Given the description of an element on the screen output the (x, y) to click on. 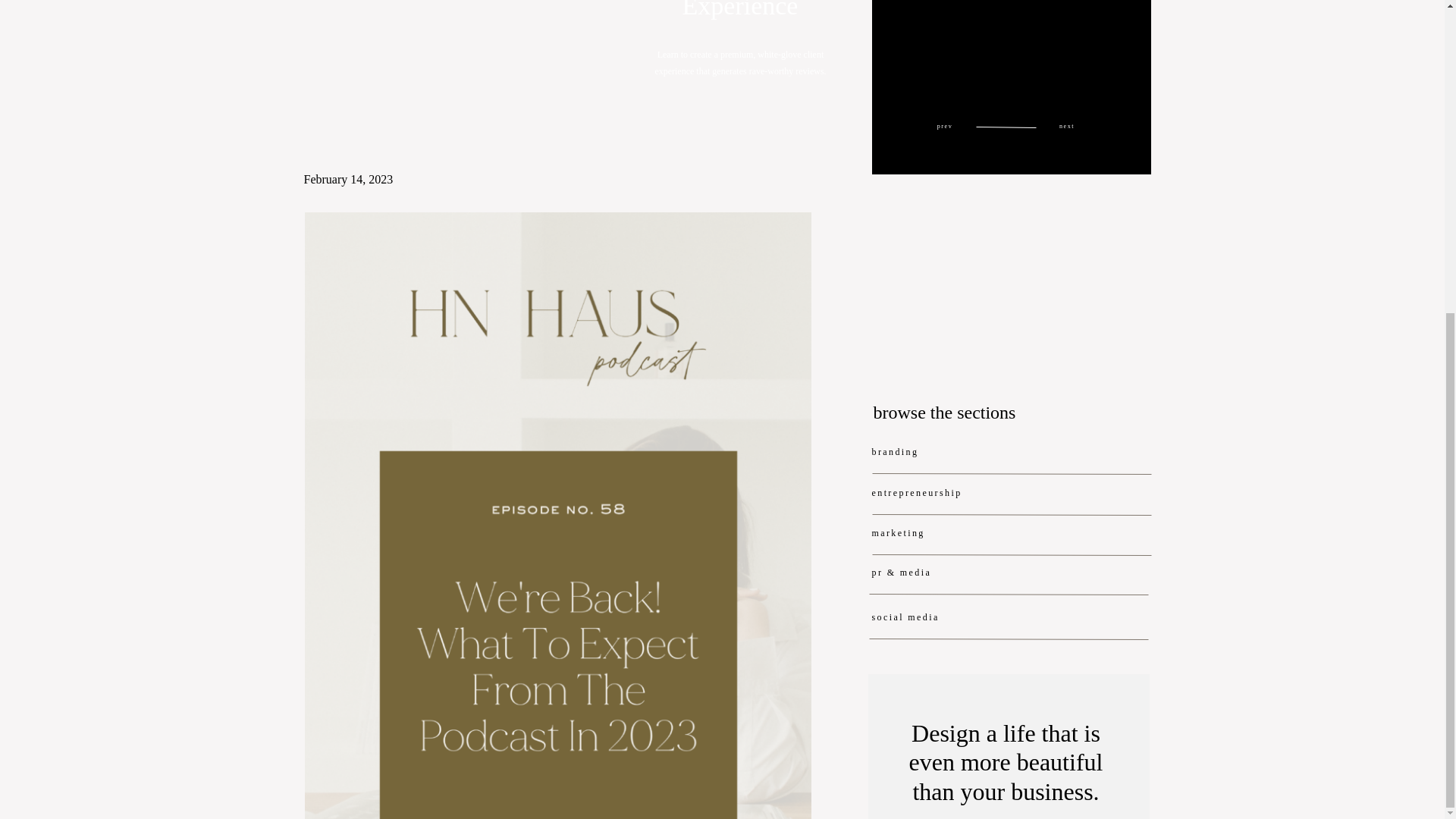
prev (944, 127)
next (1066, 127)
branding (925, 451)
social media (925, 616)
marketing (925, 532)
entrepreneurship (937, 492)
Luxury Client Experience (739, 11)
